Given the description of an element on the screen output the (x, y) to click on. 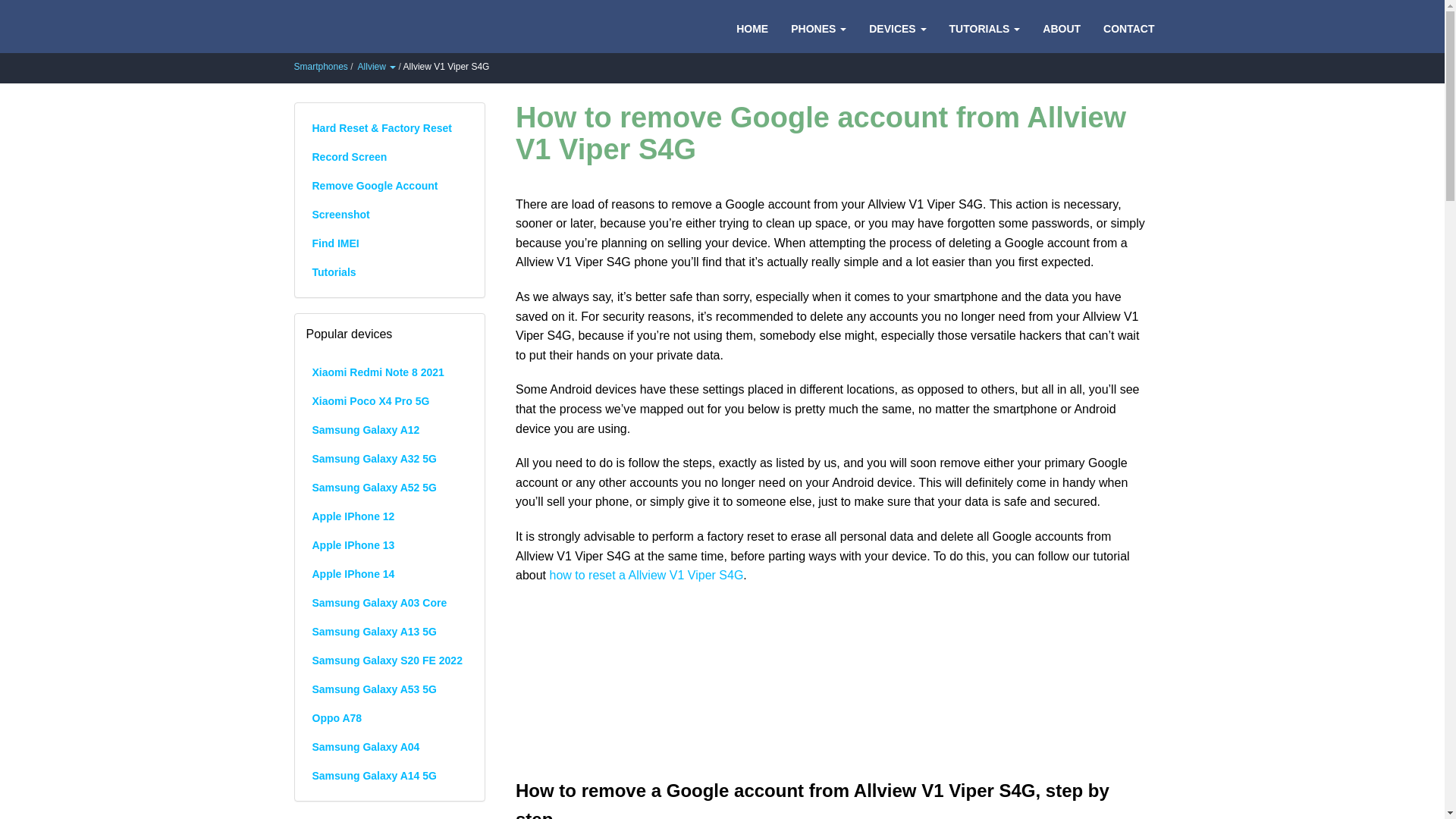
Record Screen (389, 156)
Find IMEI (389, 243)
TUTORIALS (984, 27)
PHONES (817, 27)
Xiaomi Redmi Note 8 2021 (389, 371)
HOME (751, 27)
Tutorials (389, 271)
Xiaomi Poco X4 Pro 5G (389, 400)
DEVICES (897, 27)
CONTACT (1129, 27)
Samsung Galaxy A12 (389, 429)
Remove Google Account (389, 185)
ABOUT (1061, 27)
Allview (377, 66)
Screenshot (389, 214)
